Given the description of an element on the screen output the (x, y) to click on. 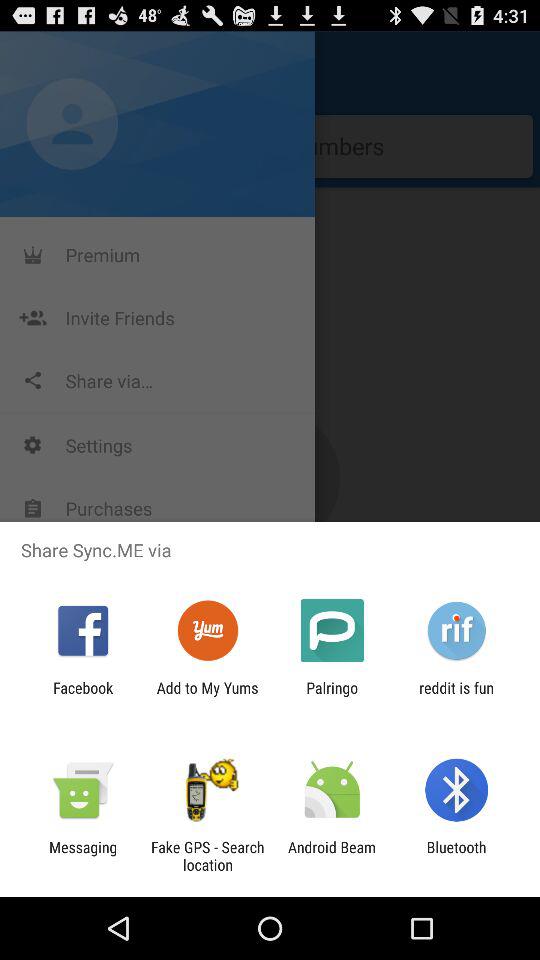
flip to the android beam item (332, 856)
